Given the description of an element on the screen output the (x, y) to click on. 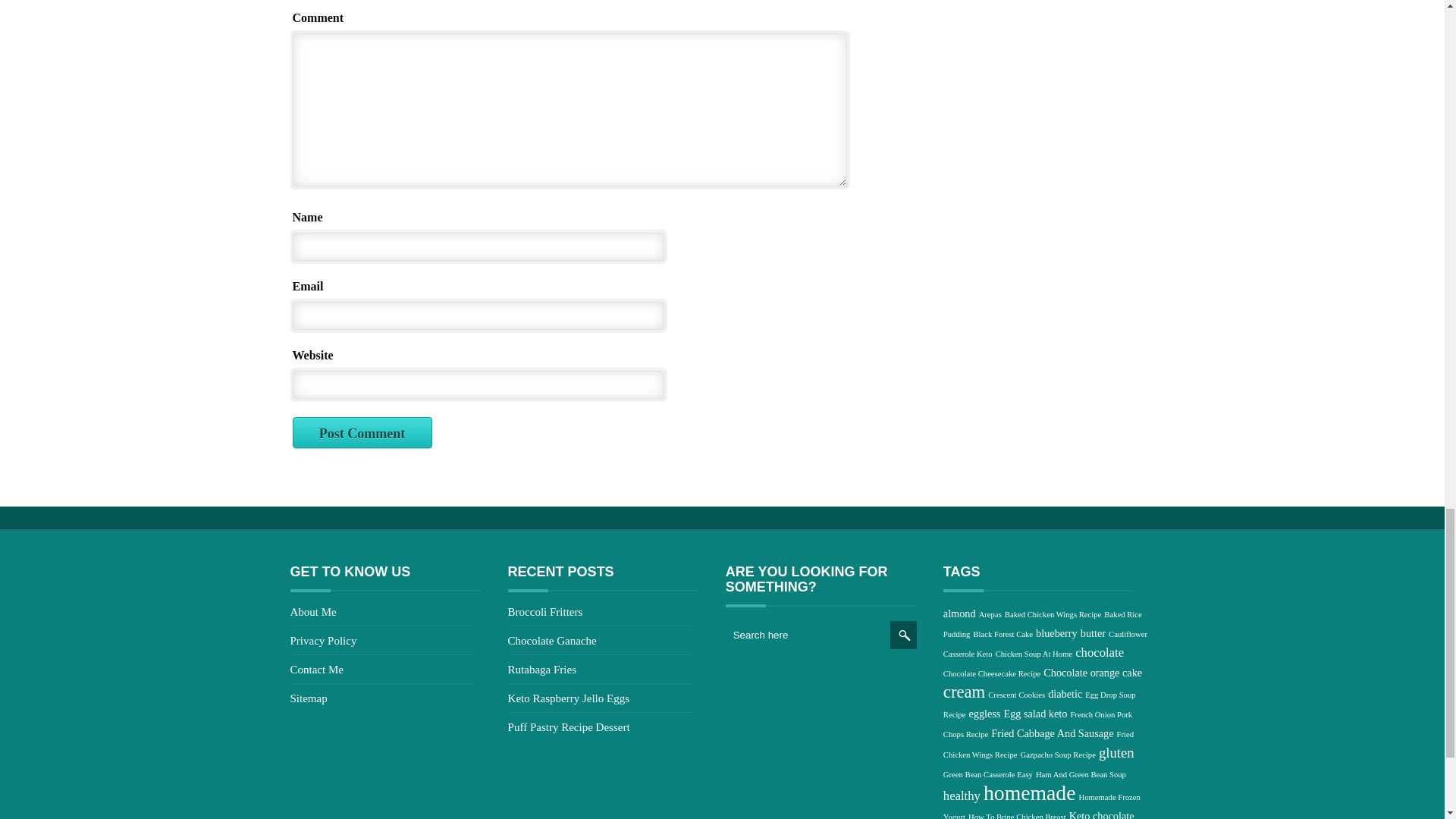
Post Comment (362, 432)
About Me (312, 612)
Search here (808, 634)
SEARCH (903, 634)
Post Comment (362, 432)
